Given the description of an element on the screen output the (x, y) to click on. 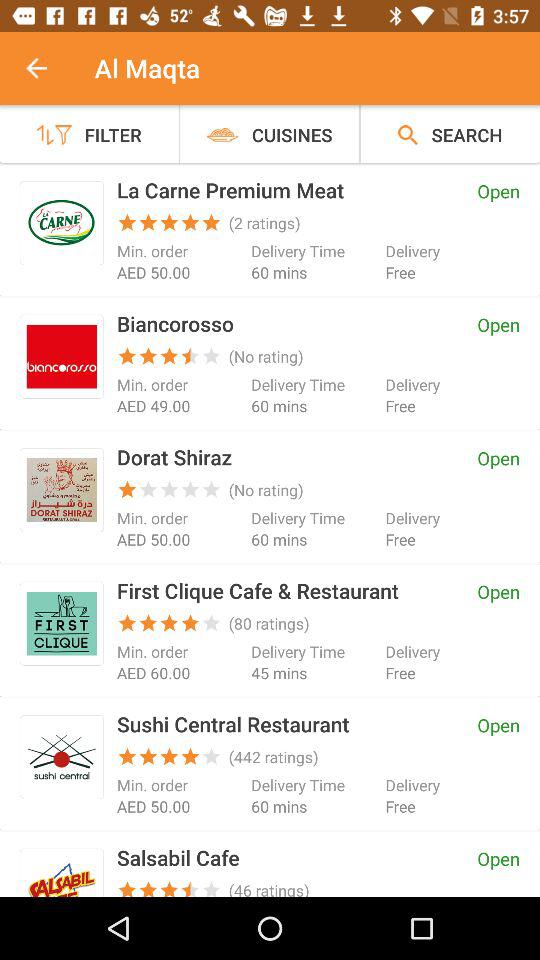
click la carne premium meat (61, 222)
